Given the description of an element on the screen output the (x, y) to click on. 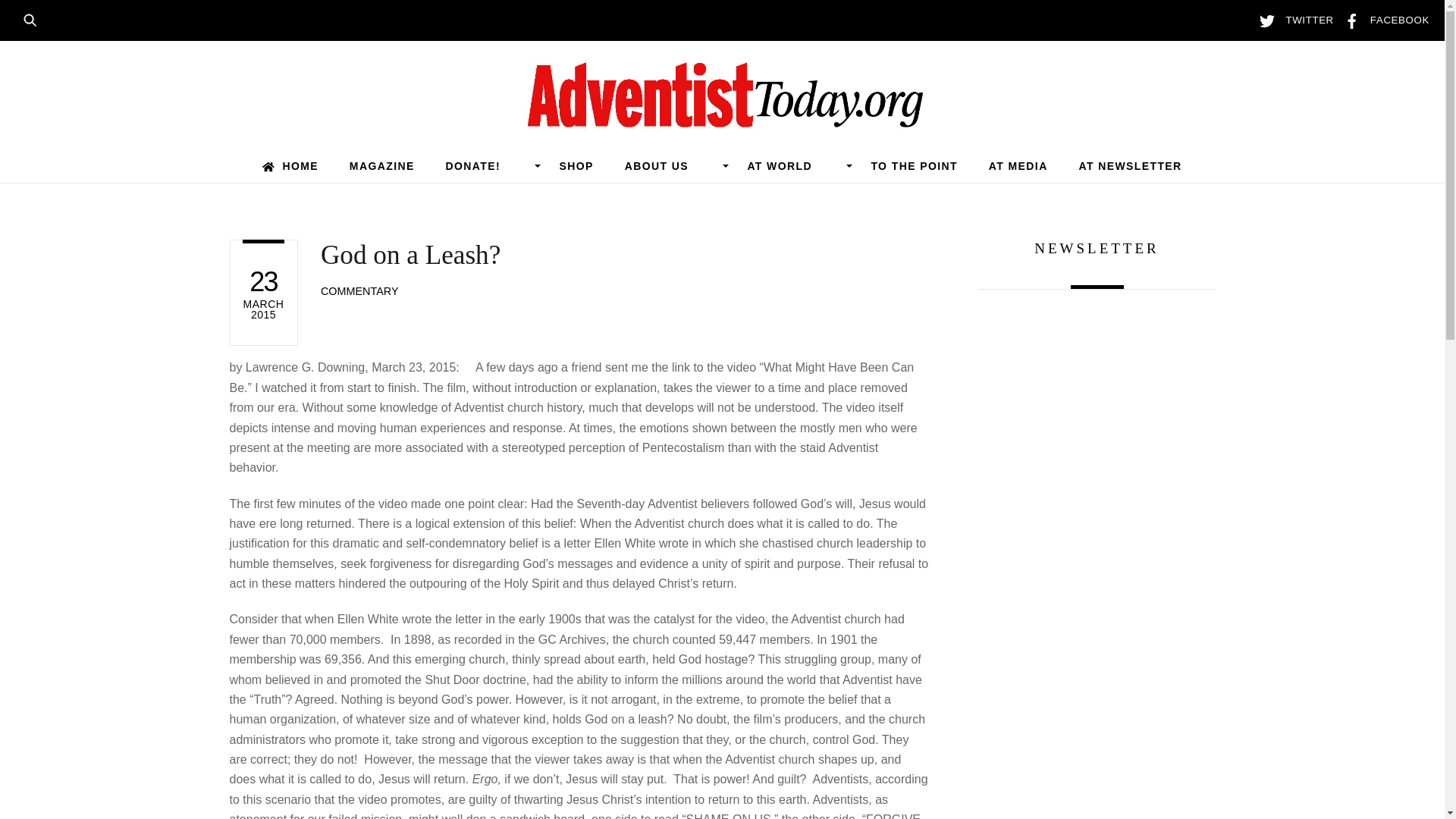
COMMENTARY (359, 291)
ABOUT US (669, 165)
TO THE POINT (913, 165)
DONATE! (486, 165)
AT NEWSLETTER (1129, 165)
AT MEDIA (1017, 165)
FACEBOOK (1382, 19)
Search (35, 18)
TWITTER (1292, 19)
SHOP (576, 165)
AT WORLD (793, 165)
Adventist Today (722, 119)
MAGAZINE (381, 165)
God on a Leash? (410, 255)
HOME (290, 165)
